Given the description of an element on the screen output the (x, y) to click on. 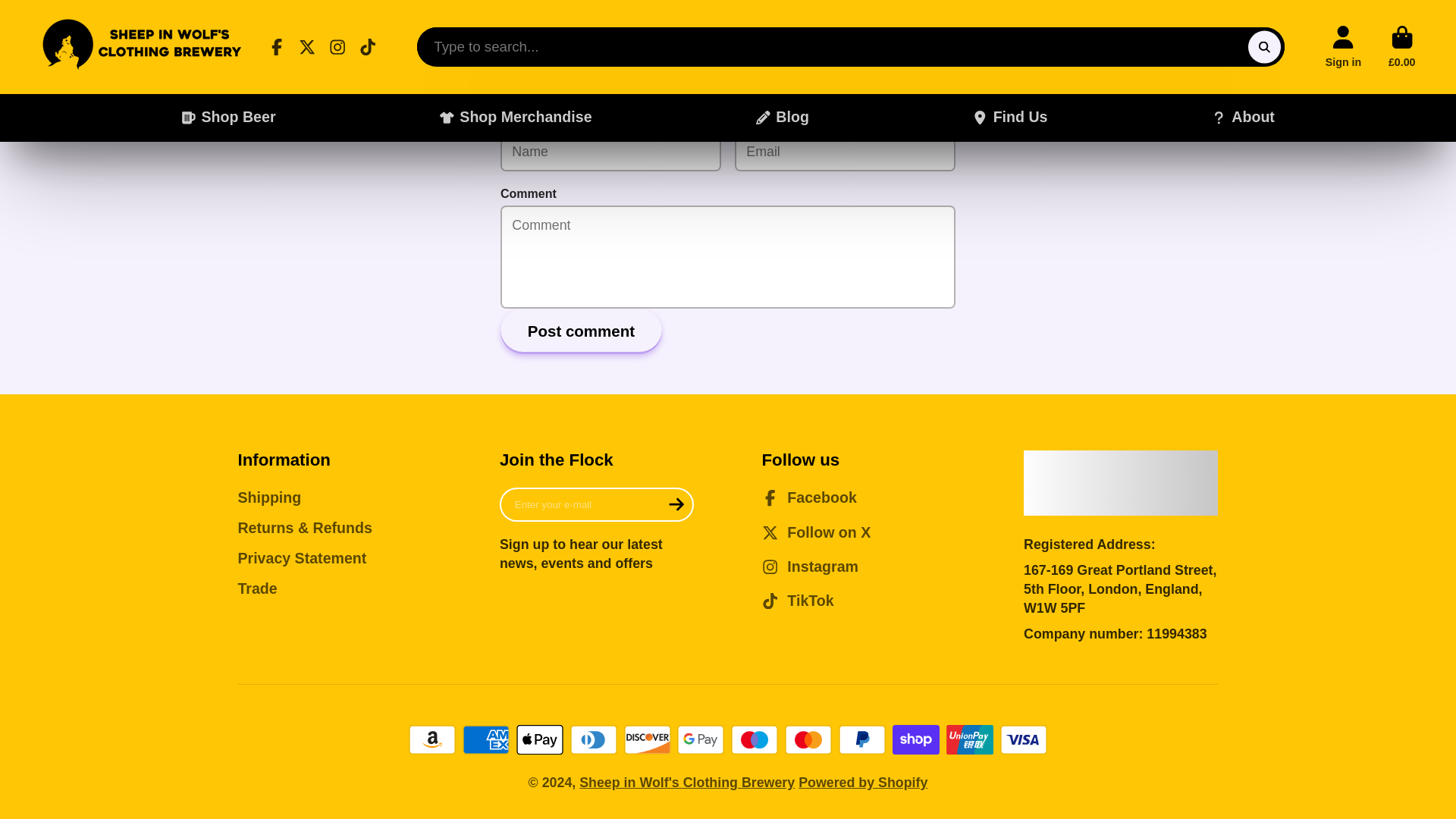
Google Pay (700, 739)
American Express (486, 739)
Discover (647, 739)
Amazon (432, 739)
Diners Club (593, 739)
Apple Pay (539, 739)
